Given the description of an element on the screen output the (x, y) to click on. 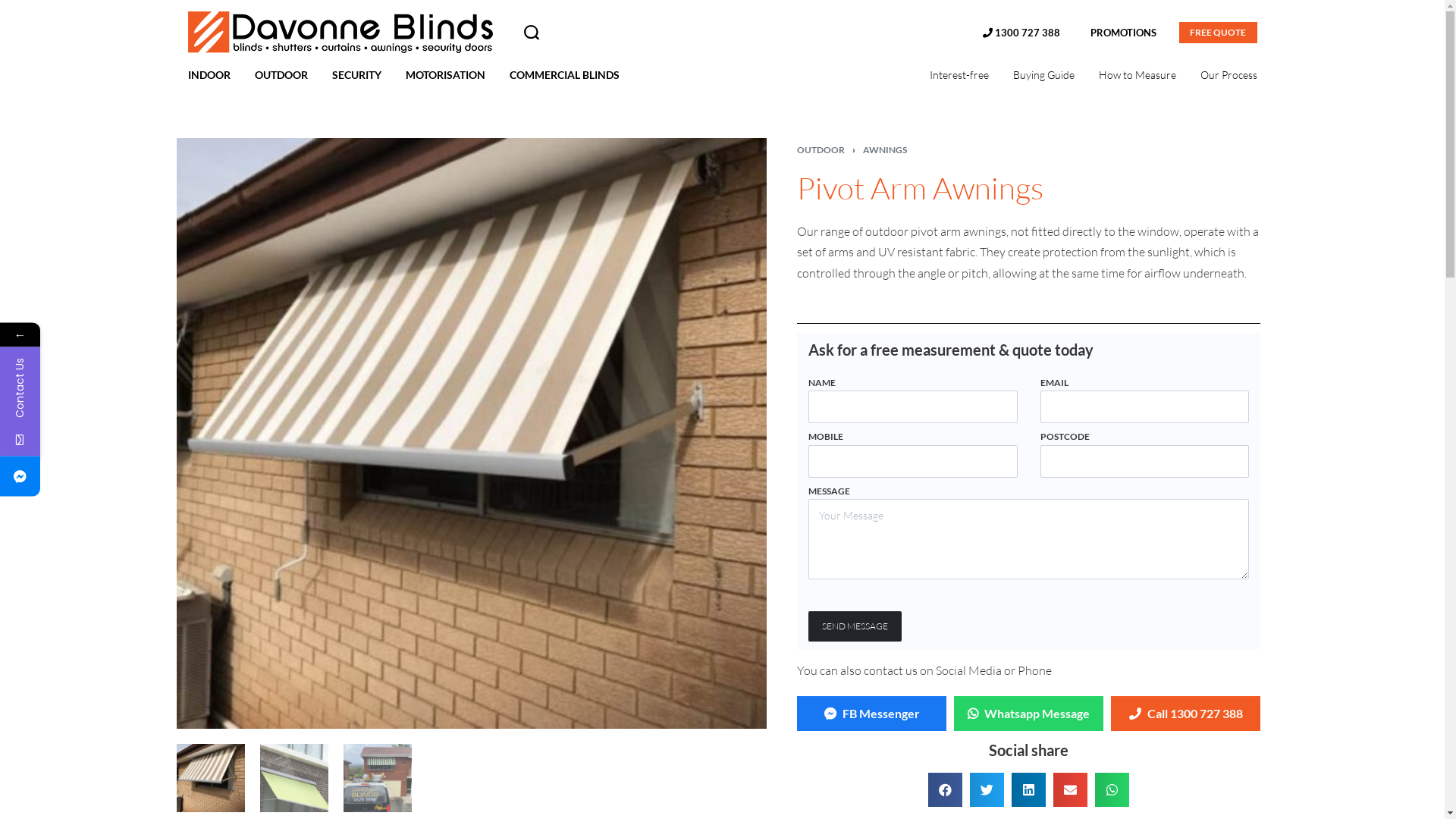
SECURITY Element type: text (356, 74)
OUTDOOR Element type: text (280, 74)
MOTORISATION Element type: text (444, 74)
Pivot Arm Awnings in the Inner West Element type: hover (209, 777)
FB Messenger Element type: text (871, 713)
SEND MESSAGE Element type: text (854, 626)
Buying Guide Element type: text (1043, 74)
Call 1300 727 388 Element type: text (1185, 713)
How to Measure Element type: text (1136, 74)
1300 727 388 Element type: text (1021, 32)
AWNINGS Element type: text (884, 149)
Call 1300 727 388 Element type: text (1188, 713)
INDOOR Element type: text (209, 74)
Our Process Element type: text (1227, 74)
Pivot Arm Awnings in the Inner West Element type: hover (470, 433)
OUTDOOR Element type: text (820, 149)
COMMERCIAL BLINDS Element type: text (564, 74)
Whatsapp Message Element type: text (1028, 713)
Interest-free Element type: text (958, 74)
FREE QUOTE Element type: text (1218, 32)
Submit Element type: text (196, 613)
Pivot Arm Awnings Collaroy Element type: hover (376, 777)
Facebook Messenger Element type: text (104, 476)
FB Messenger Element type: text (875, 713)
Pivot Arm Awnings Sydney Element type: hover (293, 777)
PROMOTIONS Element type: text (1123, 32)
